Given the description of an element on the screen output the (x, y) to click on. 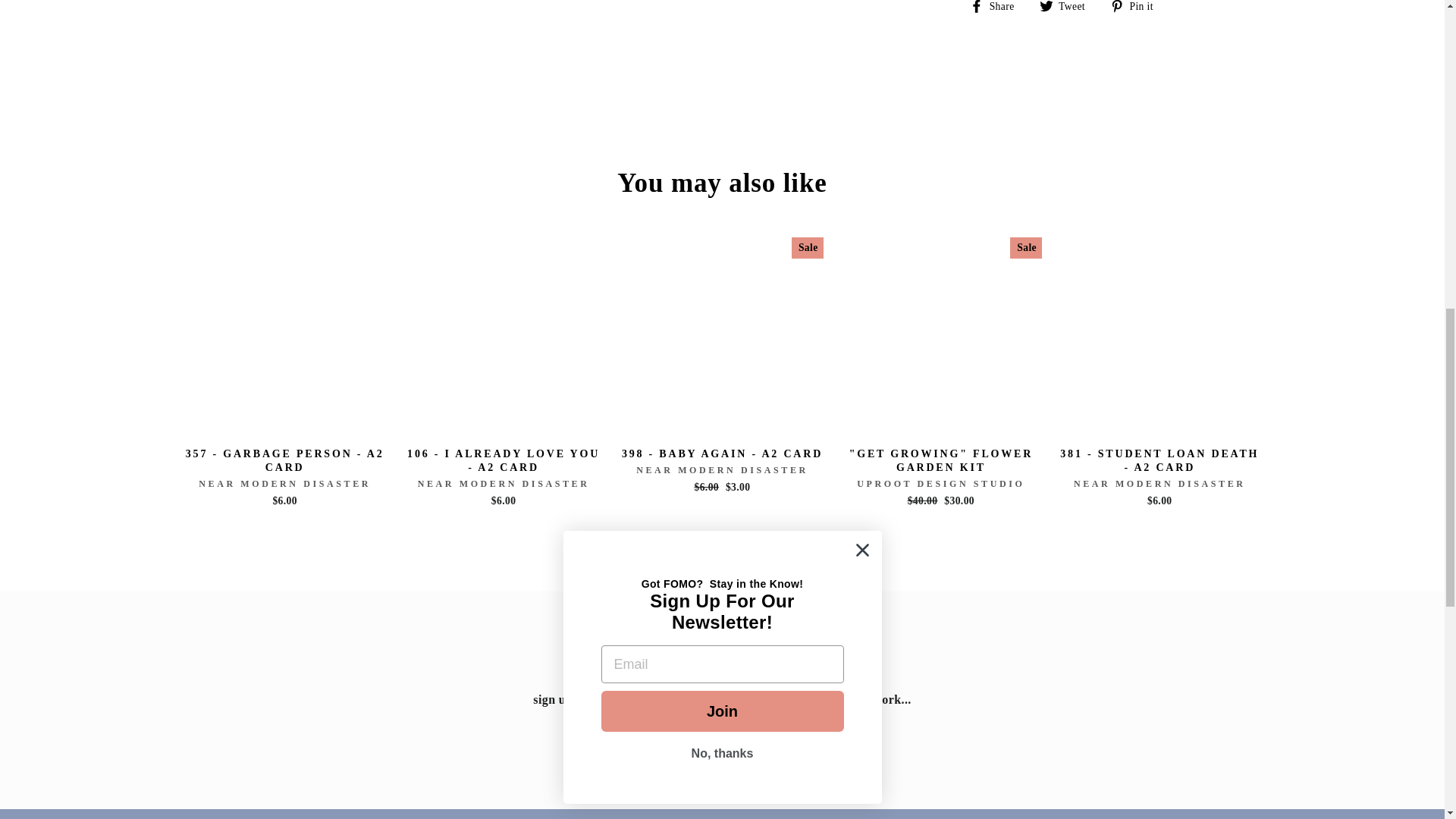
Tweet on Twitter (1067, 6)
Pin on Pinterest (1136, 6)
Share on Facebook (997, 6)
